Given the description of an element on the screen output the (x, y) to click on. 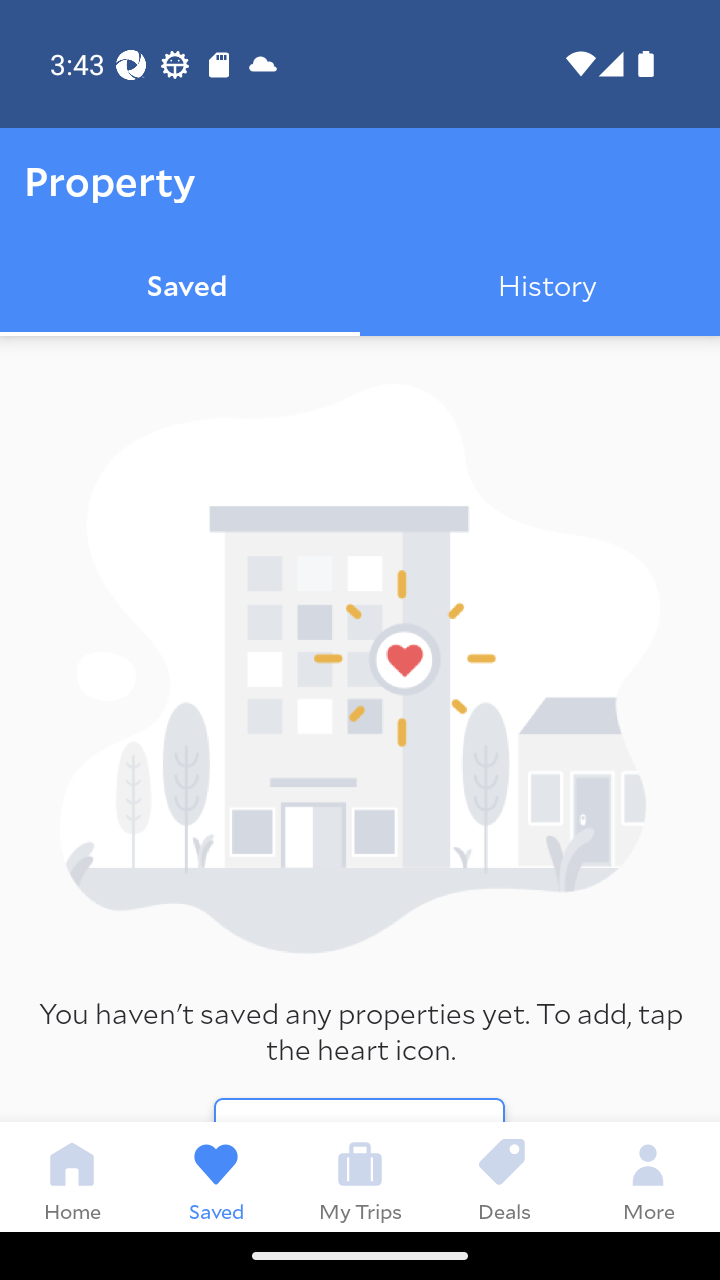
History (540, 287)
Home (72, 1176)
Saved (216, 1176)
My Trips (360, 1176)
Deals (504, 1176)
More (648, 1176)
